Given the description of an element on the screen output the (x, y) to click on. 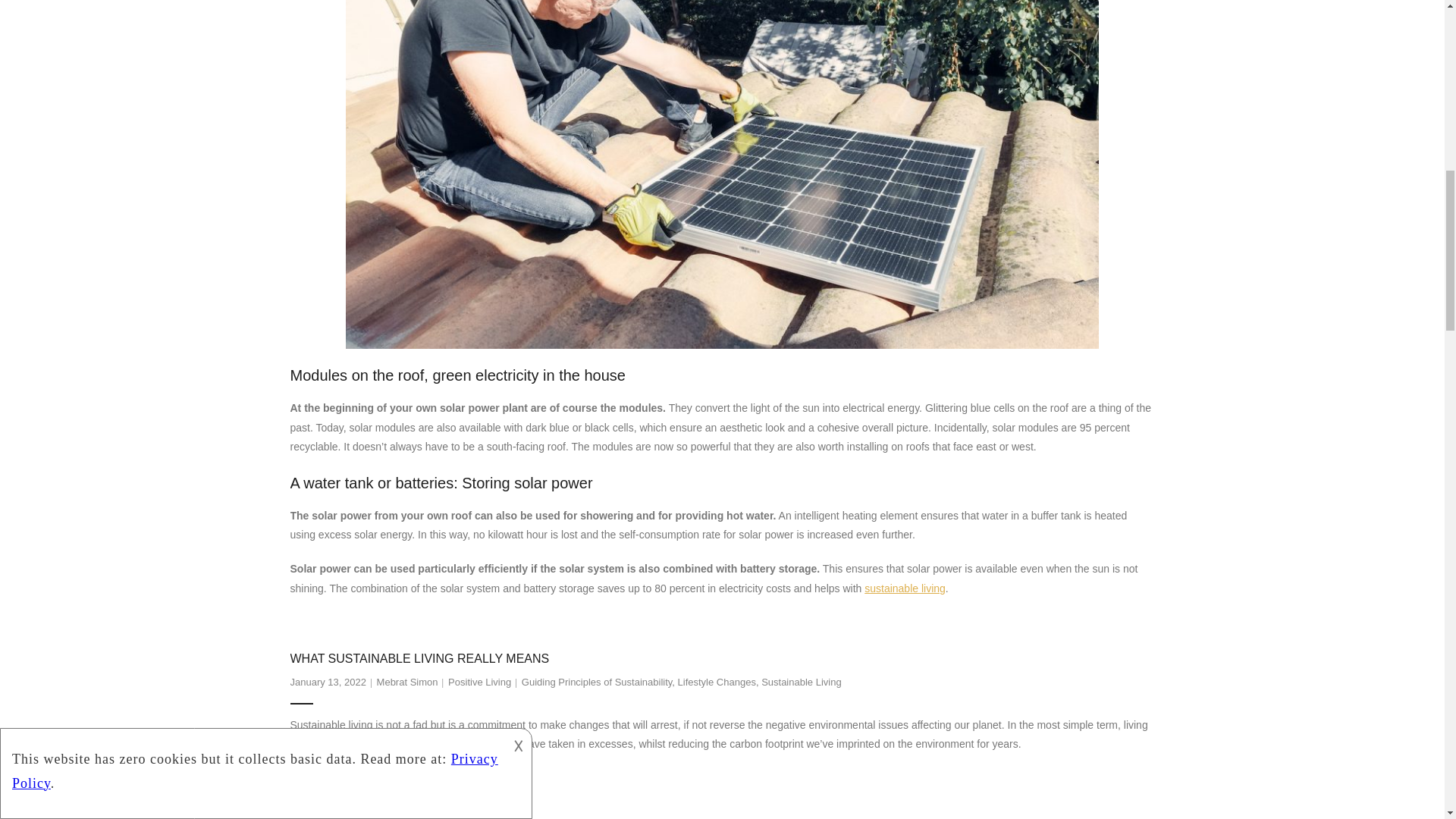
Permalink to What Sustainable Living Really Means (418, 658)
View all posts by Mebrat Simon (407, 681)
What Sustainable Living Really Means (327, 681)
